Given the description of an element on the screen output the (x, y) to click on. 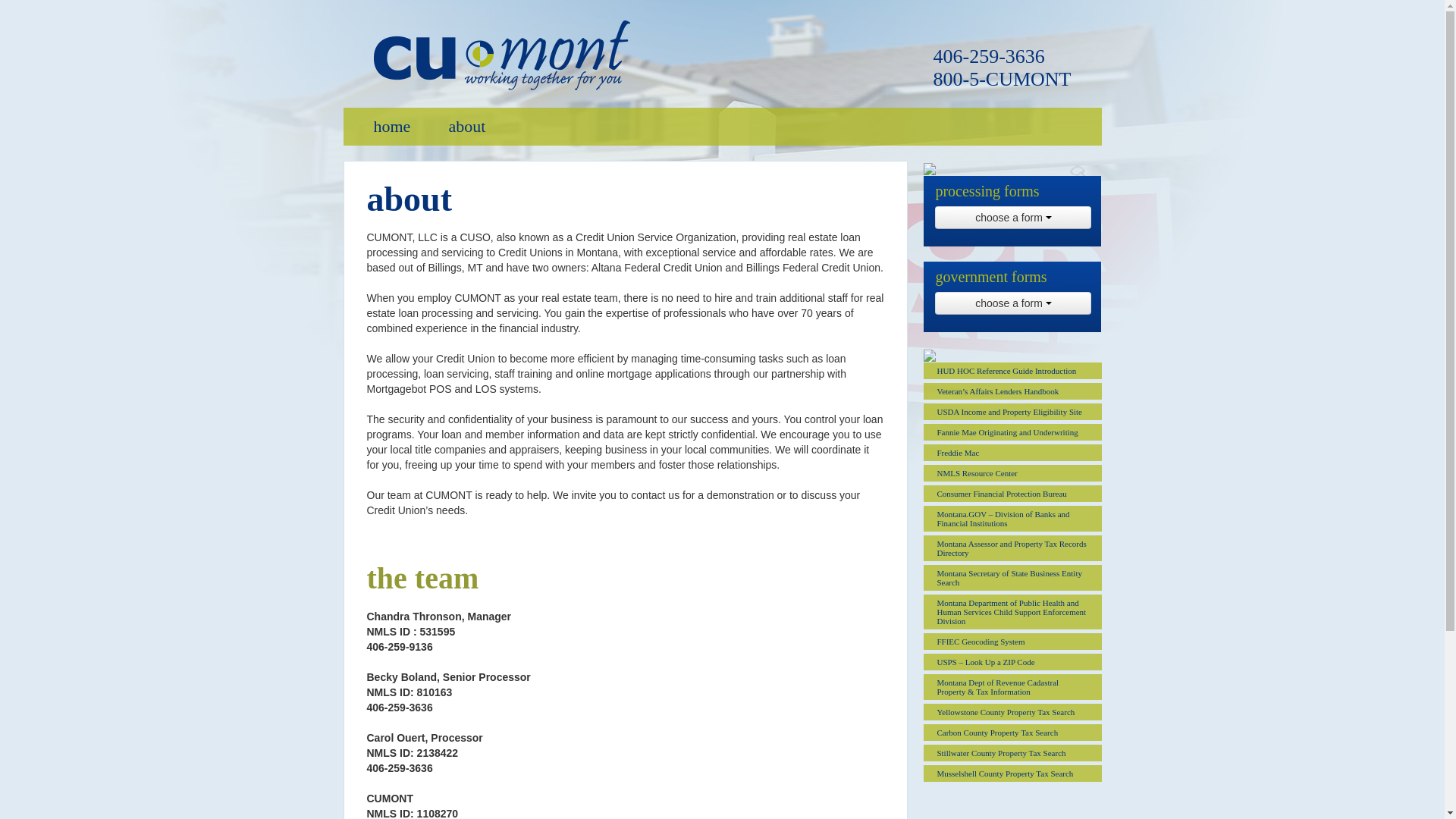
home (392, 126)
Consumer Financial Protection Bureau (1012, 493)
Montana Assessor and Property Tax Records Directory (1012, 548)
about (466, 126)
HUD HOC Reference Guide Introduction (1012, 370)
choose a form (1012, 302)
Fannie Mae Originating and Underwriting (1012, 432)
NMLS Resource Center (1012, 473)
choose a form (1012, 217)
USDA Income and Property Eligibility Site (1012, 411)
Freddie Mac (1012, 452)
Montana Secretary of State Business Entity Search (1012, 577)
